Given the description of an element on the screen output the (x, y) to click on. 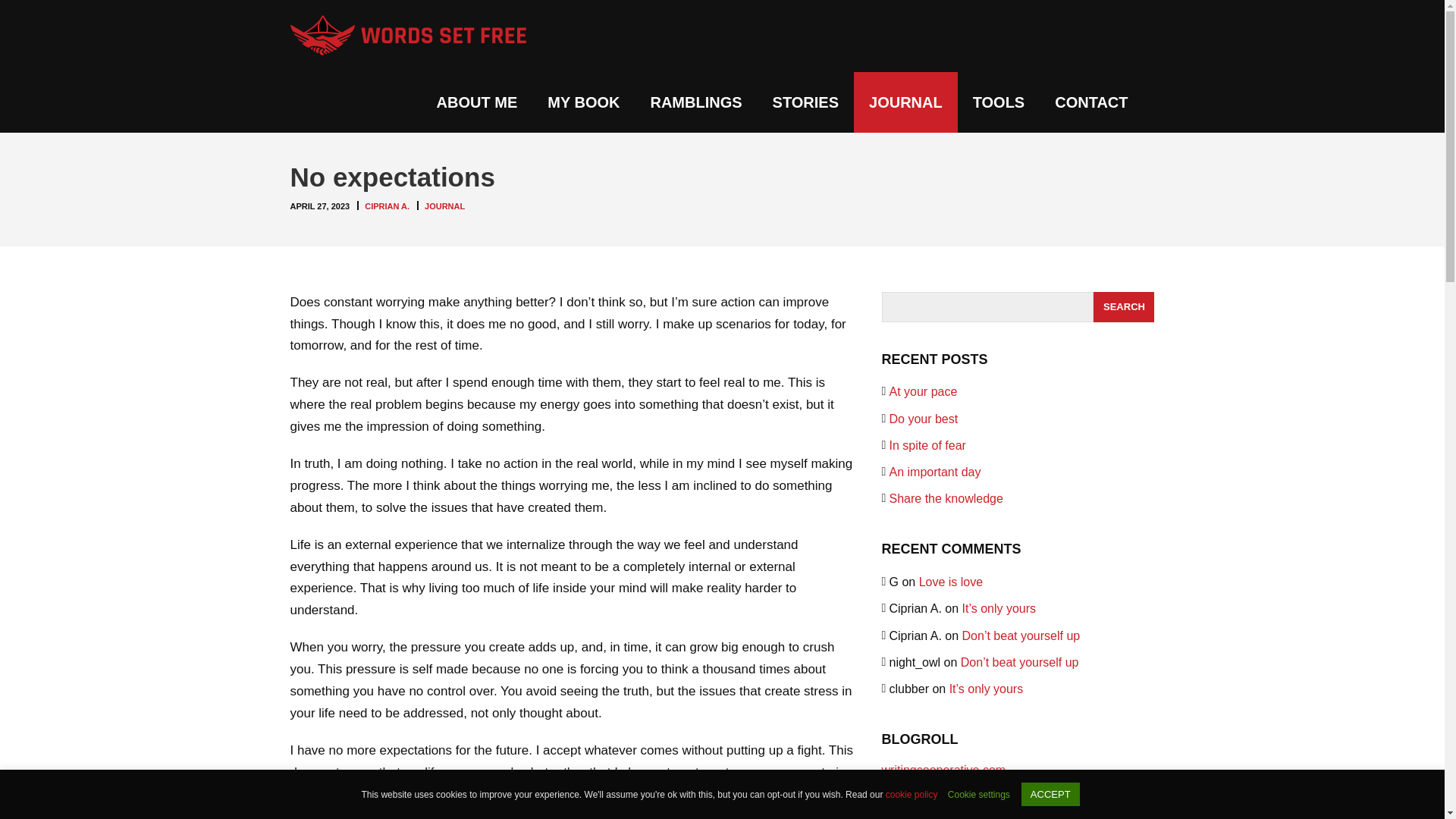
Journal (905, 102)
An important day (933, 472)
Do your best (923, 418)
Love is love (951, 581)
Stories (805, 102)
STORIES (805, 102)
Search (1123, 306)
CONTACT (1090, 102)
Tools (999, 102)
MY BOOK (583, 102)
